Given the description of an element on the screen output the (x, y) to click on. 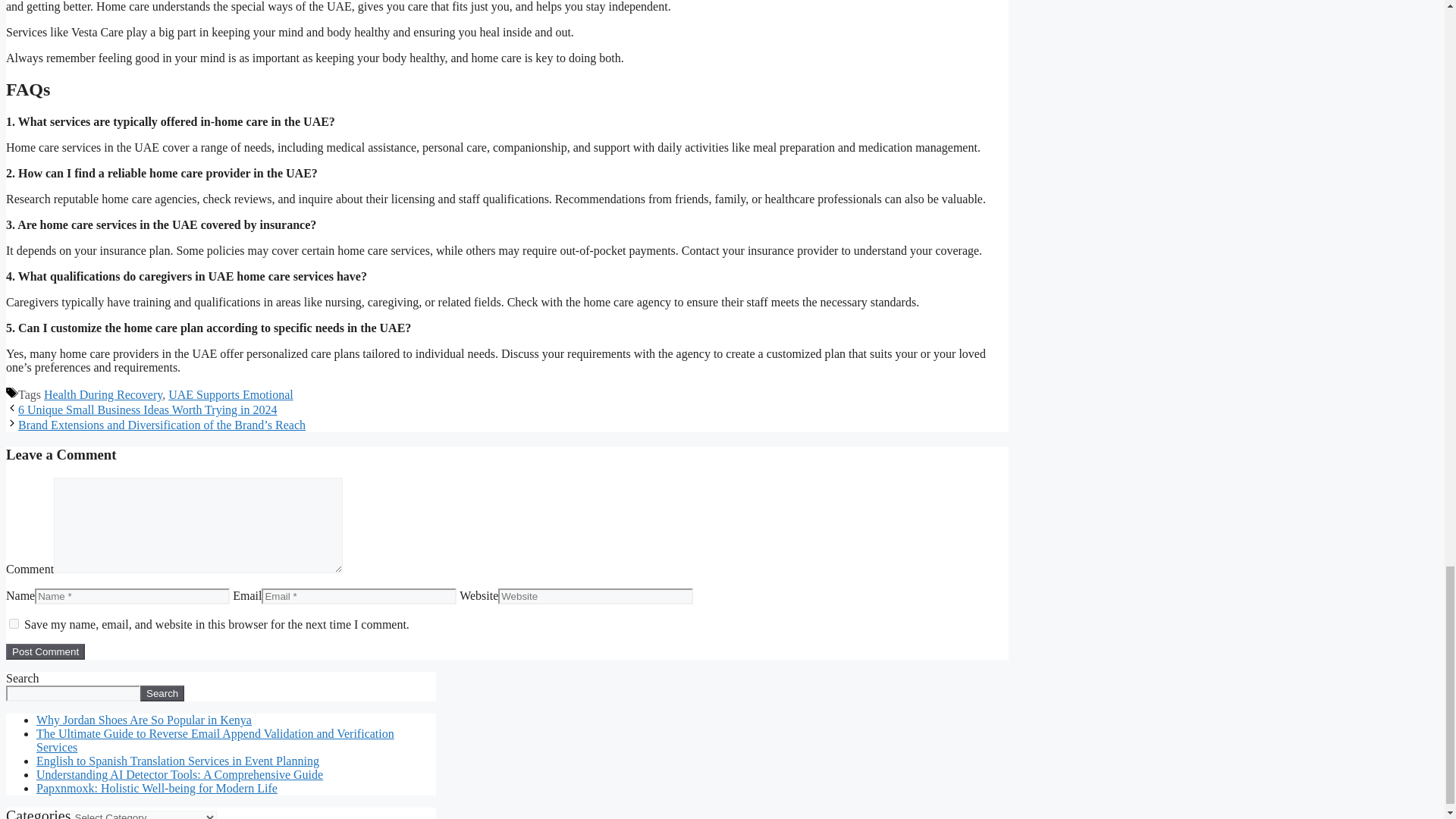
Post Comment (44, 651)
Health During Recovery (102, 394)
yes (13, 623)
UAE Supports Emotional (230, 394)
Search (161, 693)
6 Unique Small Business Ideas Worth Trying in 2024 (147, 409)
Papxnmoxk: Holistic Well-being for Modern Life (157, 788)
Post Comment (44, 651)
English to Spanish Translation Services in Event Planning (177, 760)
Understanding AI Detector Tools: A Comprehensive Guide (179, 774)
Why Jordan Shoes Are So Popular in Kenya (143, 719)
